Given the description of an element on the screen output the (x, y) to click on. 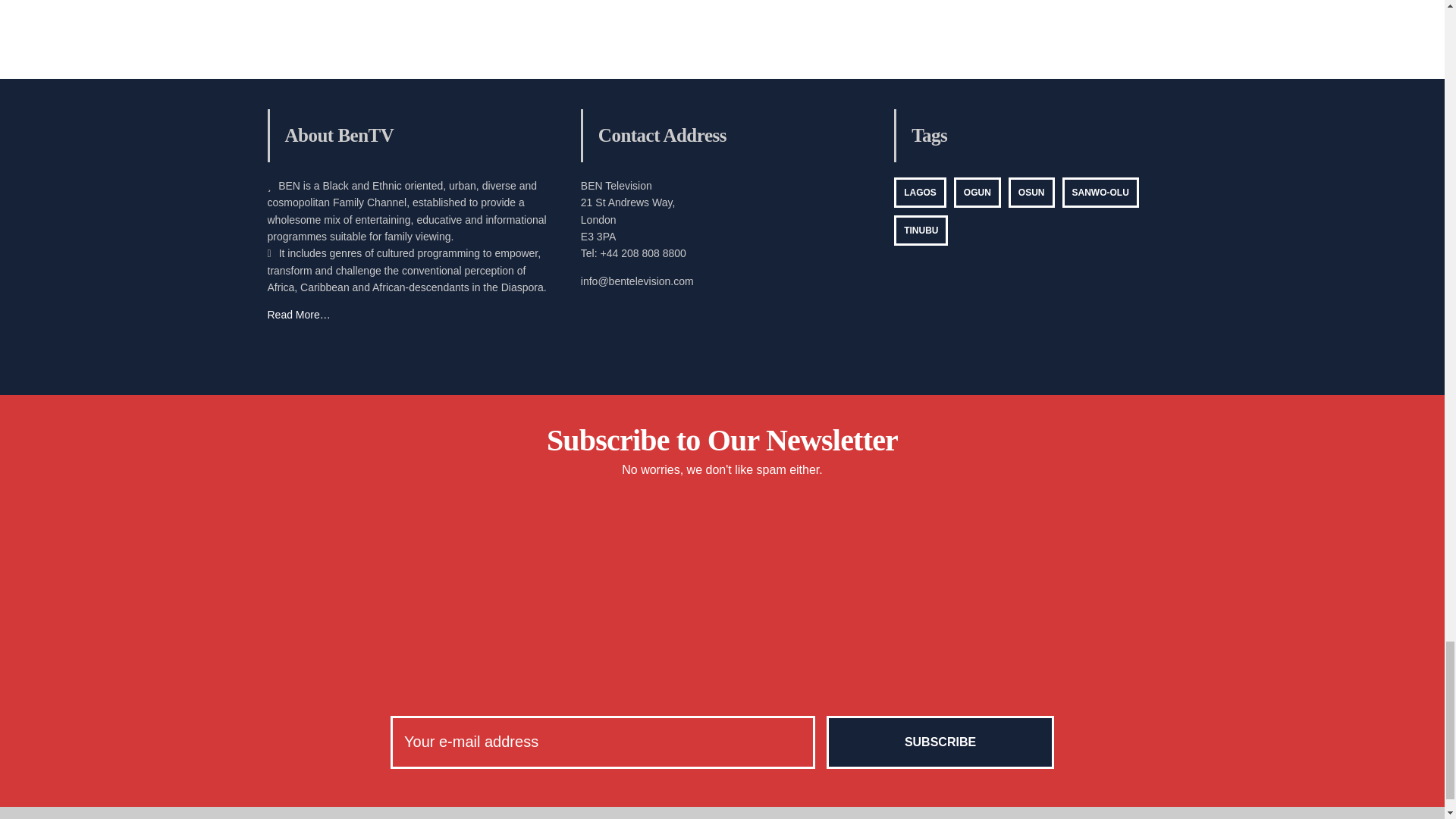
SUBSCRIBE (940, 742)
